Given the description of an element on the screen output the (x, y) to click on. 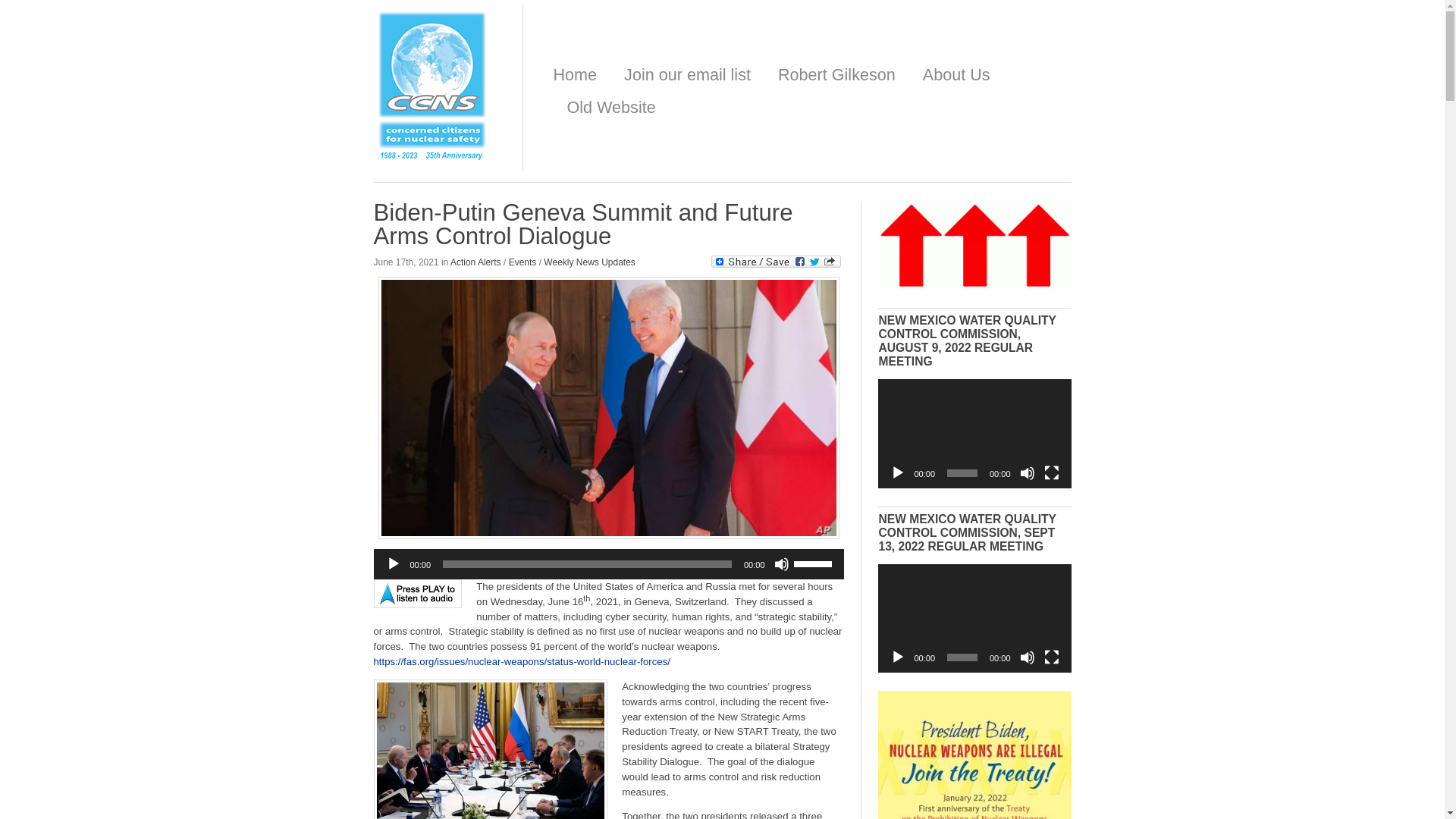
Fullscreen (1050, 657)
Play (897, 657)
Mute (781, 563)
Robert Gilkeson (836, 75)
Concerned Citizens for Nuclear Safety (432, 159)
Home (574, 75)
Action Alerts (474, 262)
Join our email list (687, 75)
Play (897, 473)
Fullscreen (1050, 473)
Events (522, 262)
Mute (1026, 473)
Play (392, 563)
About Us (956, 75)
Weekly News Updates (588, 262)
